Given the description of an element on the screen output the (x, y) to click on. 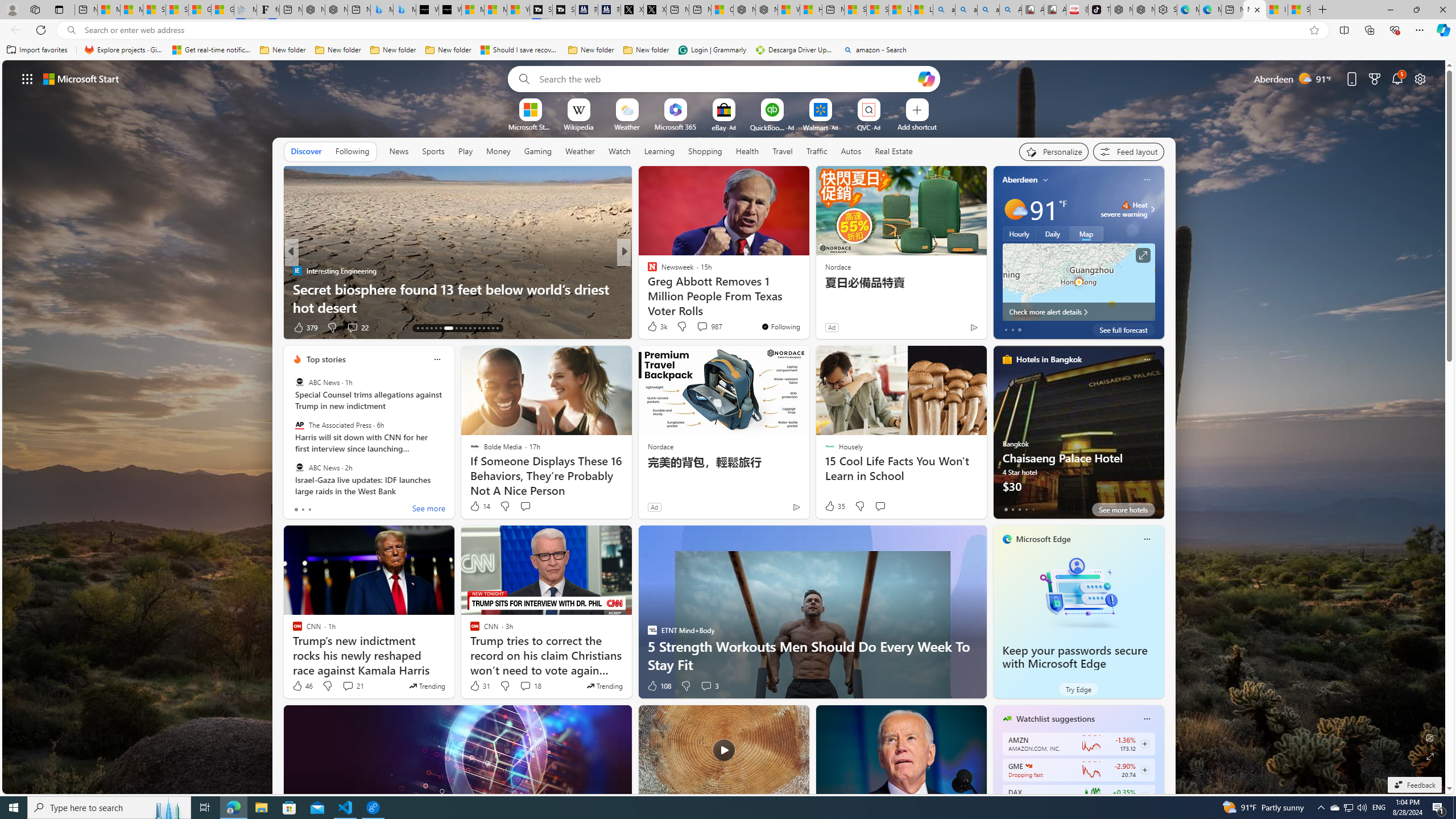
Don't Use an Ordinary Backpack (807, 307)
69 Like (652, 327)
View comments 17 Comment (707, 327)
AutomationID: tab-13 (417, 328)
Personalize your feed" (1054, 151)
View comments 1 Comment (698, 327)
